Given the description of an element on the screen output the (x, y) to click on. 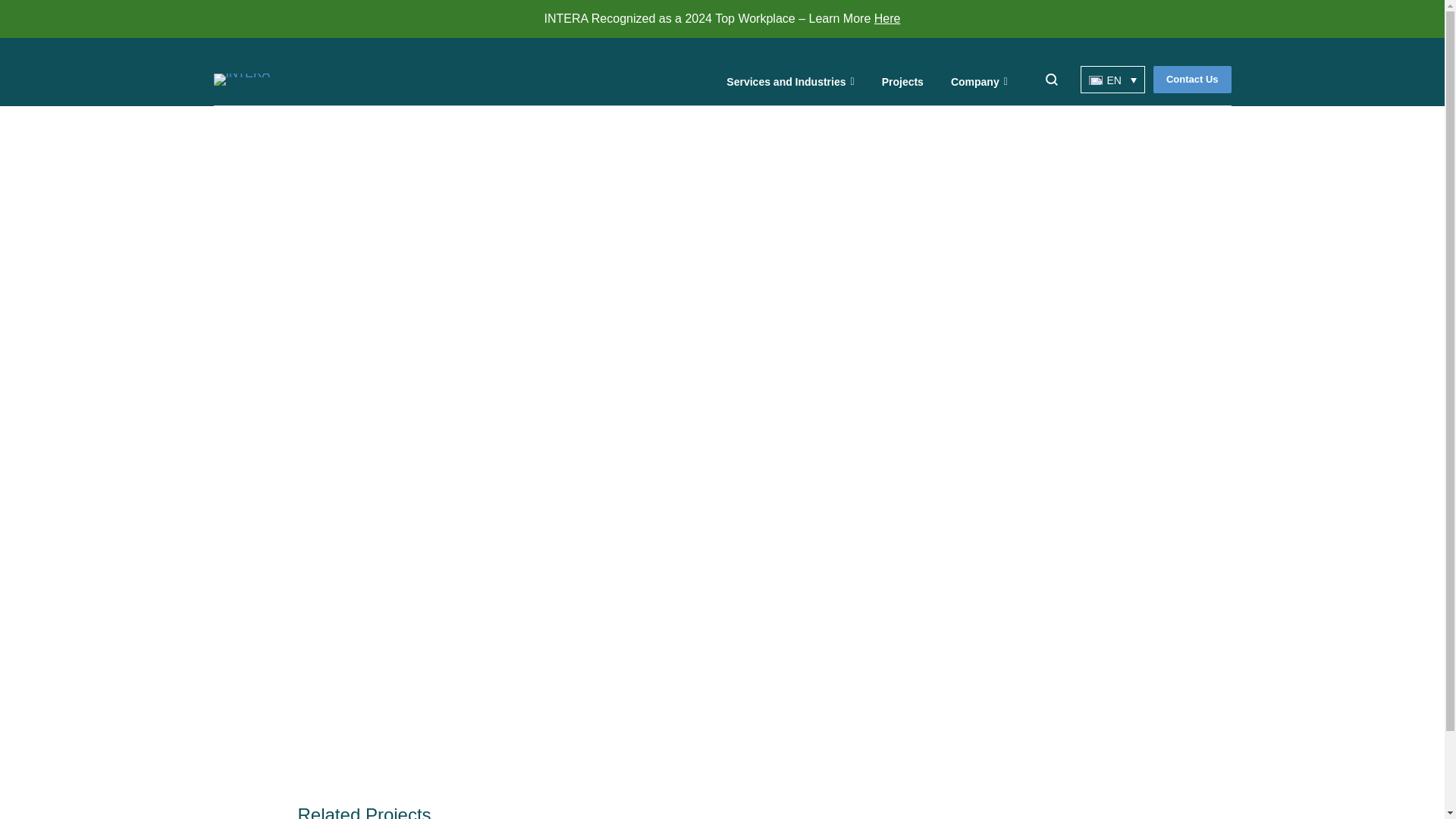
Search (21, 7)
